Given the description of an element on the screen output the (x, y) to click on. 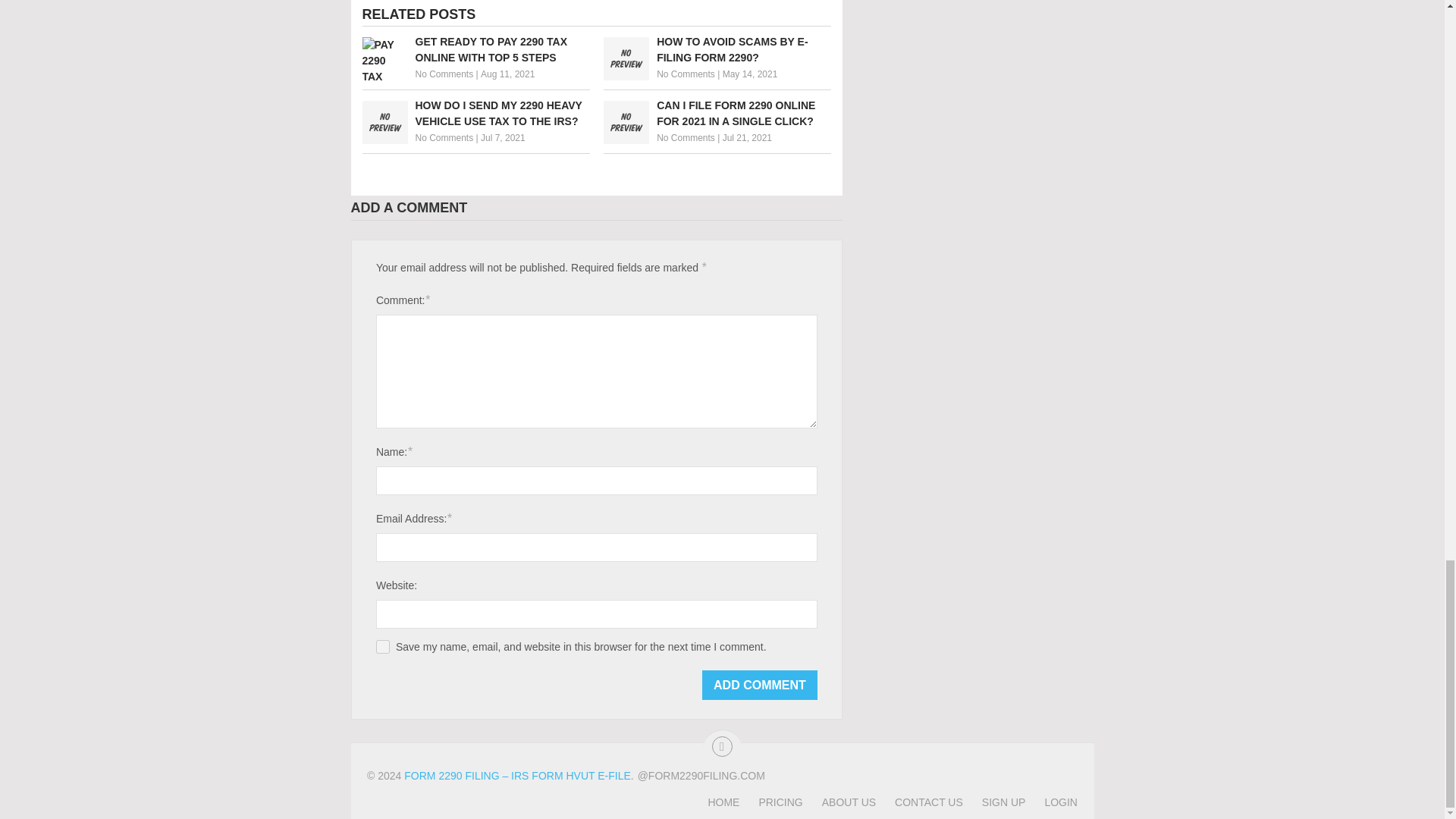
How Do I Send My 2290 Heavy Vehicle Use Tax to the IRS? (475, 113)
yes (382, 646)
Add Comment (758, 685)
Get Ready to Pay 2290 Tax Online with Top 5 Steps (475, 50)
How to Avoid Scams by e-filing Form 2290? (717, 50)
Can I File Form 2290 Online for 2021 in a Single Click? (717, 113)
